Given the description of an element on the screen output the (x, y) to click on. 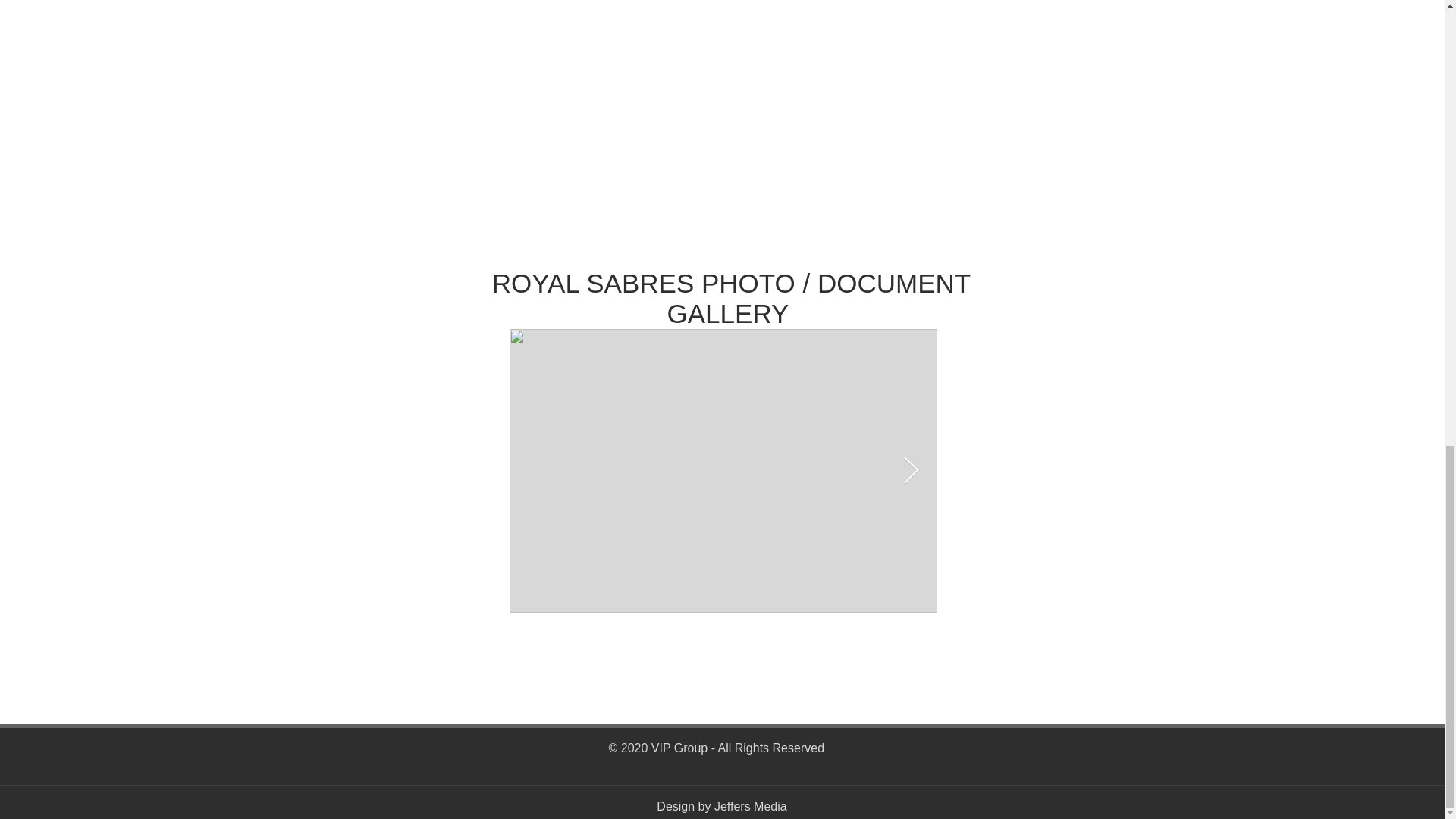
Design by Jeffers Media (721, 806)
